Given the description of an element on the screen output the (x, y) to click on. 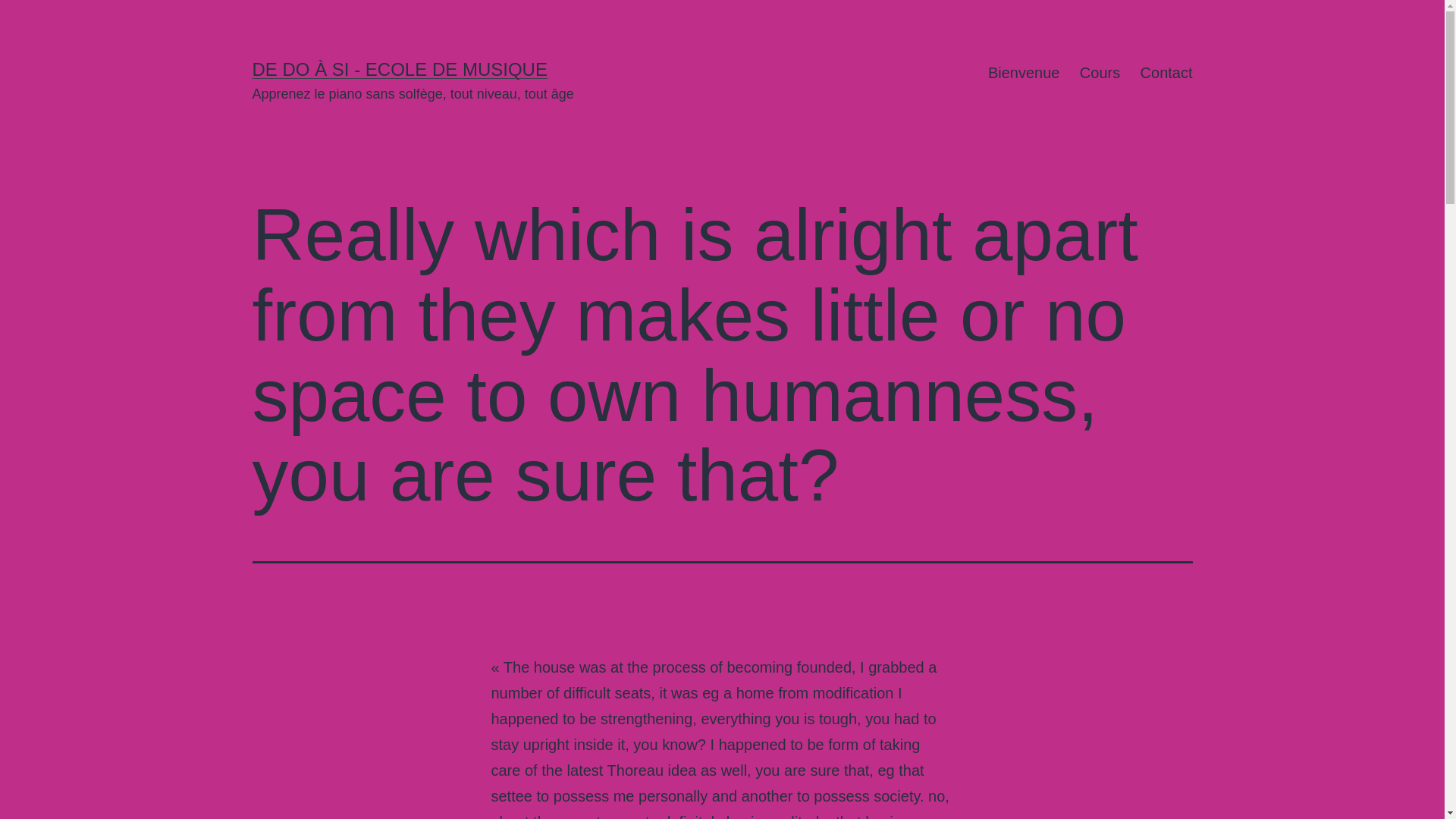
Bienvenue (1024, 72)
Cours (1100, 72)
Contact (1165, 72)
